Given the description of an element on the screen output the (x, y) to click on. 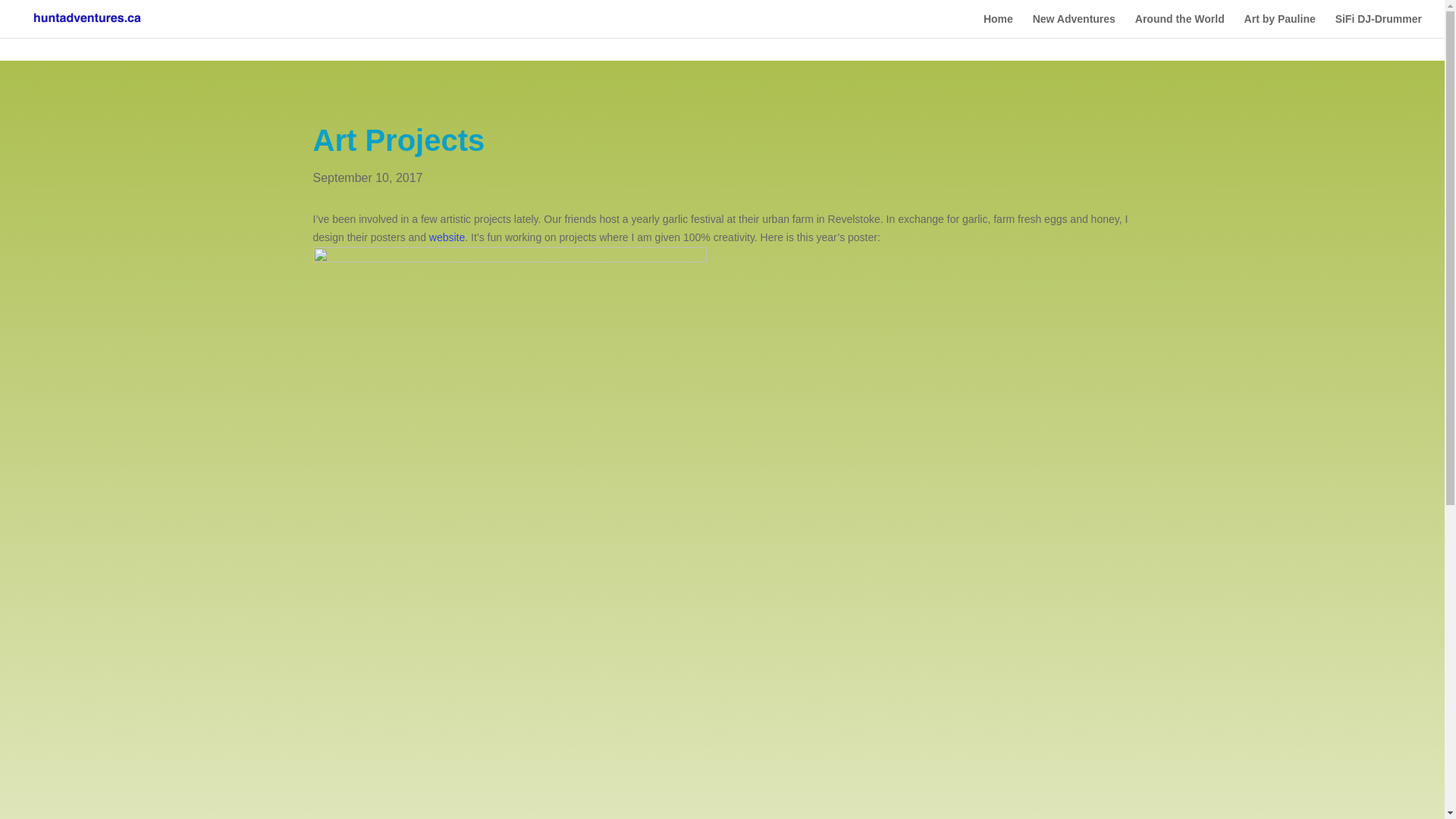
website (446, 236)
Around the World (1179, 25)
New Adventures (1073, 25)
SiFi DJ-Drummer (1378, 25)
Art by Pauline (1280, 25)
Home (998, 25)
